Given the description of an element on the screen output the (x, y) to click on. 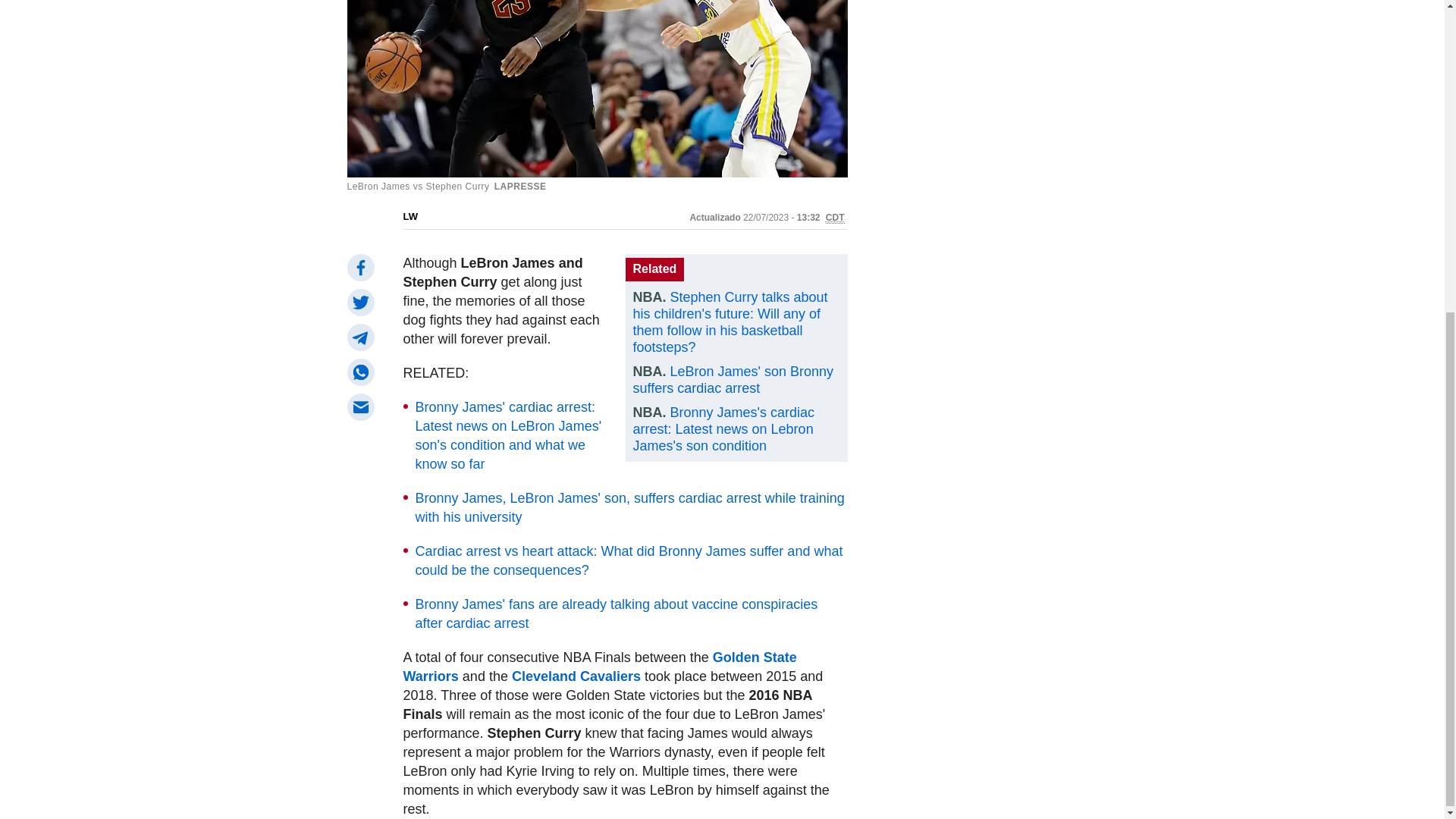
Central Daylight Time (834, 217)
